Given the description of an element on the screen output the (x, y) to click on. 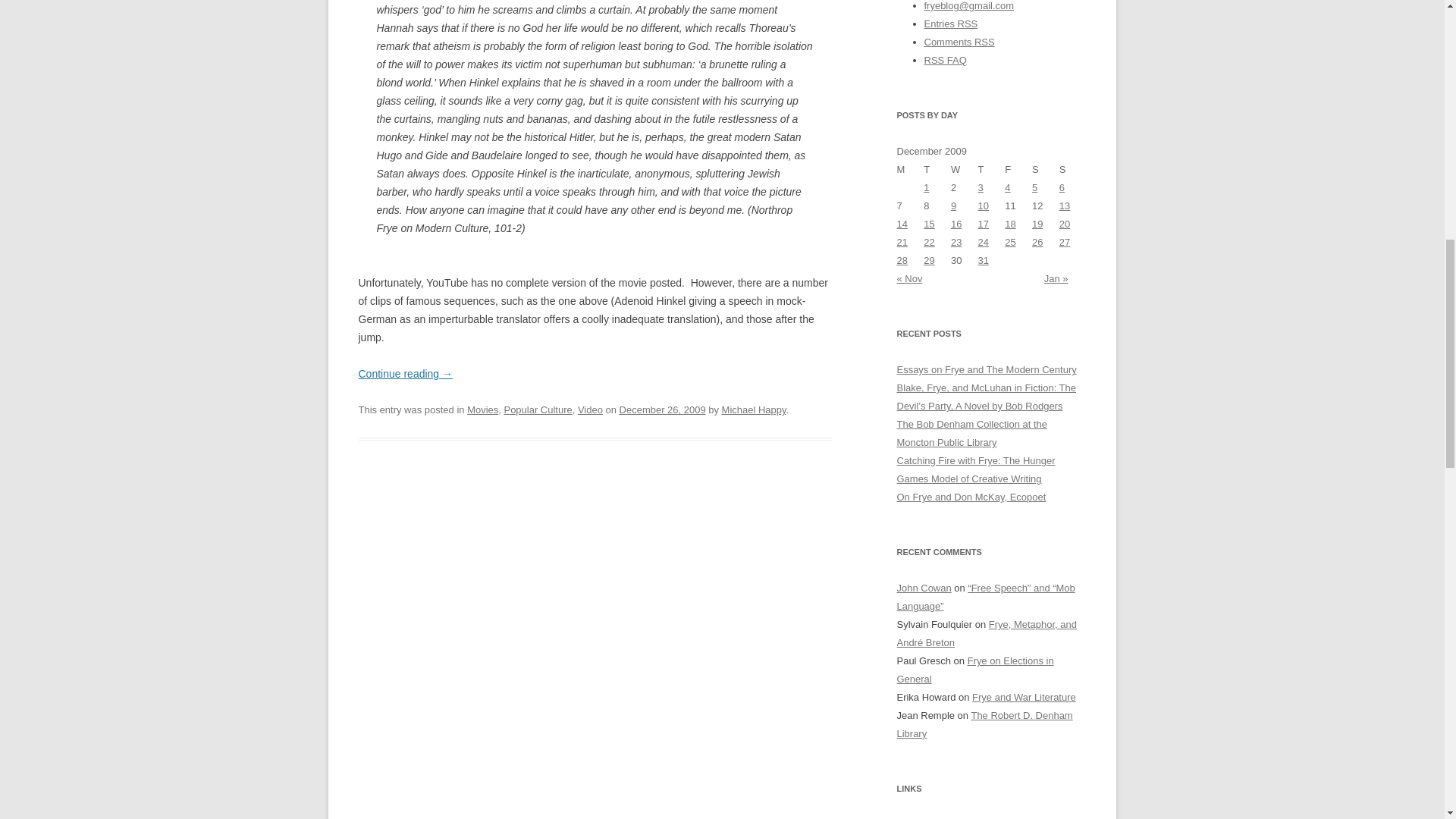
Comments RSS (958, 41)
20 (1064, 224)
15 (928, 224)
Monday (909, 169)
Sunday (1072, 169)
14 (901, 224)
Video (590, 409)
Tuesday (936, 169)
19 (1037, 224)
Entries RSS (949, 23)
